Given the description of an element on the screen output the (x, y) to click on. 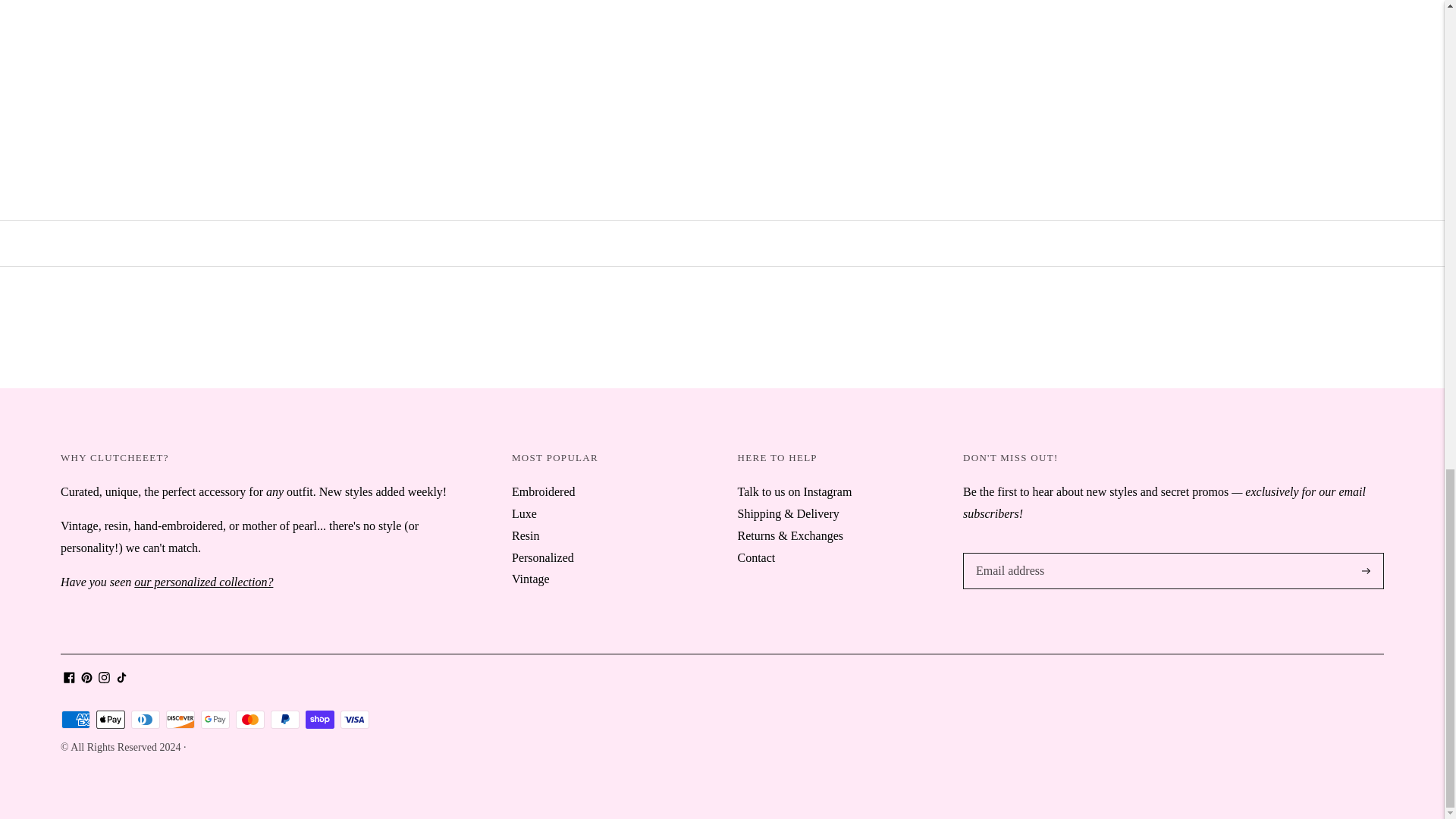
Clutch-It Handbags on Facebook (69, 678)
Clutch-It Handbags on Instagram (104, 678)
Personalized (203, 581)
Clutch-It Handbags on Pinterest (87, 678)
Clutch-It Handbags on TikTok (122, 678)
